Given the description of an element on the screen output the (x, y) to click on. 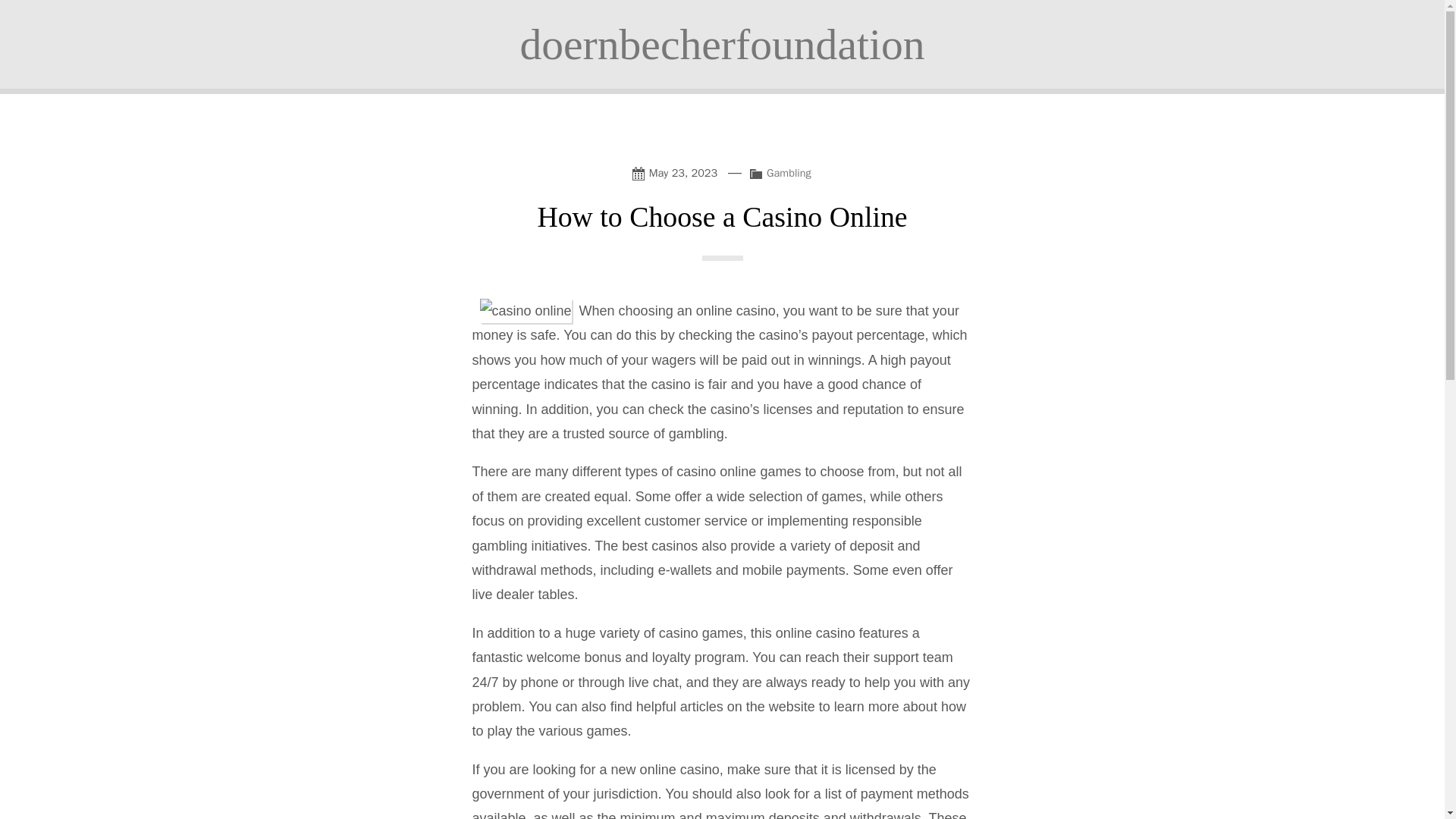
Gambling (788, 172)
doernbecherfoundation (721, 43)
